Given the description of an element on the screen output the (x, y) to click on. 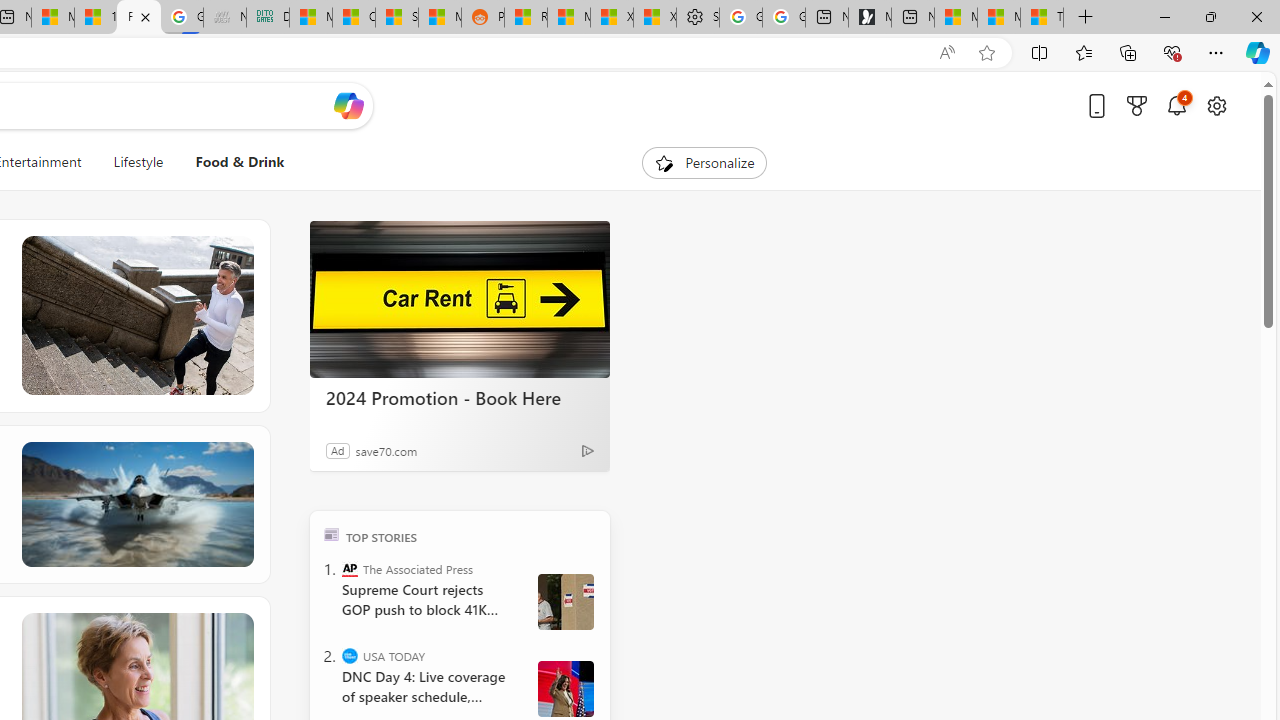
Fitness - MSN (138, 17)
2024 Promotion - Book Here (459, 397)
Stocks - MSN (397, 17)
If you are born before 1985, you have to play this game. (136, 504)
Ad Choice (587, 449)
